Given the description of an element on the screen output the (x, y) to click on. 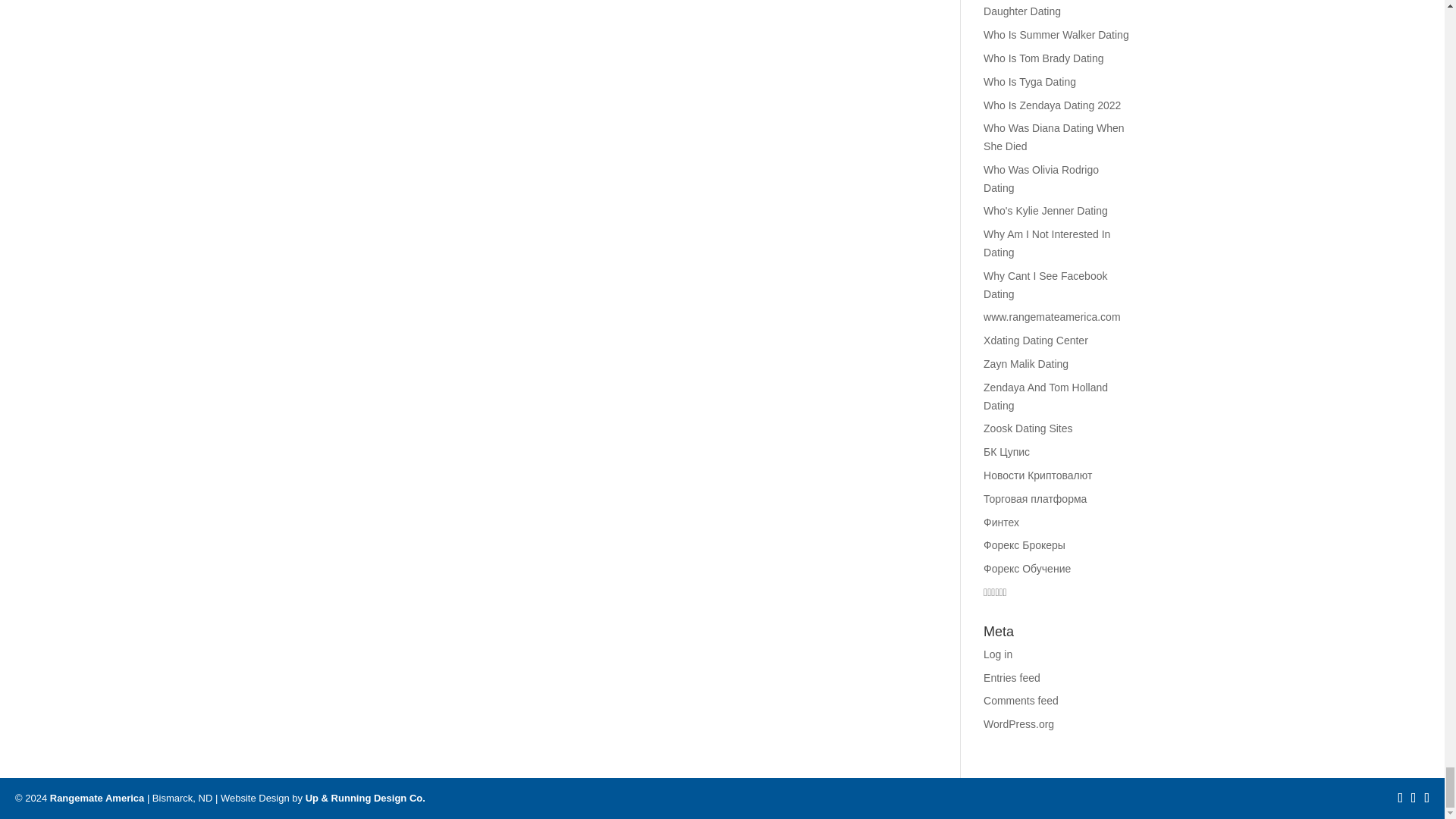
Rangemate America (96, 797)
